Given the description of an element on the screen output the (x, y) to click on. 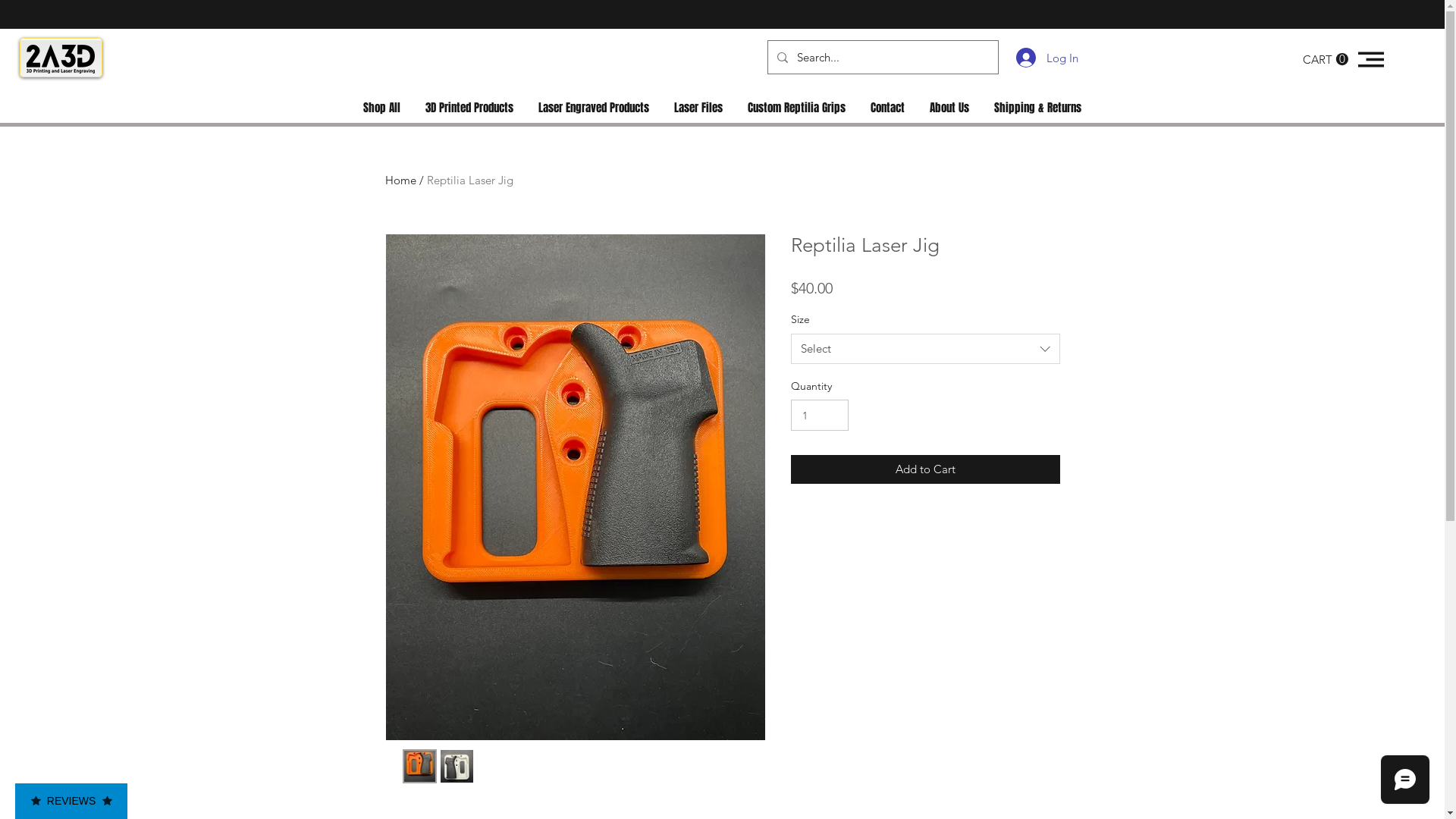
0
CART Element type: text (1325, 59)
Shipping & Returns Element type: text (1037, 107)
Laser Files Element type: text (697, 107)
About Us Element type: text (949, 107)
3D Printed Products Element type: text (468, 107)
newtextlogo.png Element type: hover (60, 58)
Shop All Element type: text (381, 107)
Home Element type: text (400, 179)
Select Element type: text (924, 348)
Laser Engraved Products Element type: text (594, 107)
Add to Cart Element type: text (924, 469)
Log In Element type: text (1034, 57)
Reptilia Laser Jig Element type: text (469, 179)
Custom Reptilia Grips Element type: text (796, 107)
Contact Element type: text (887, 107)
